Given the description of an element on the screen output the (x, y) to click on. 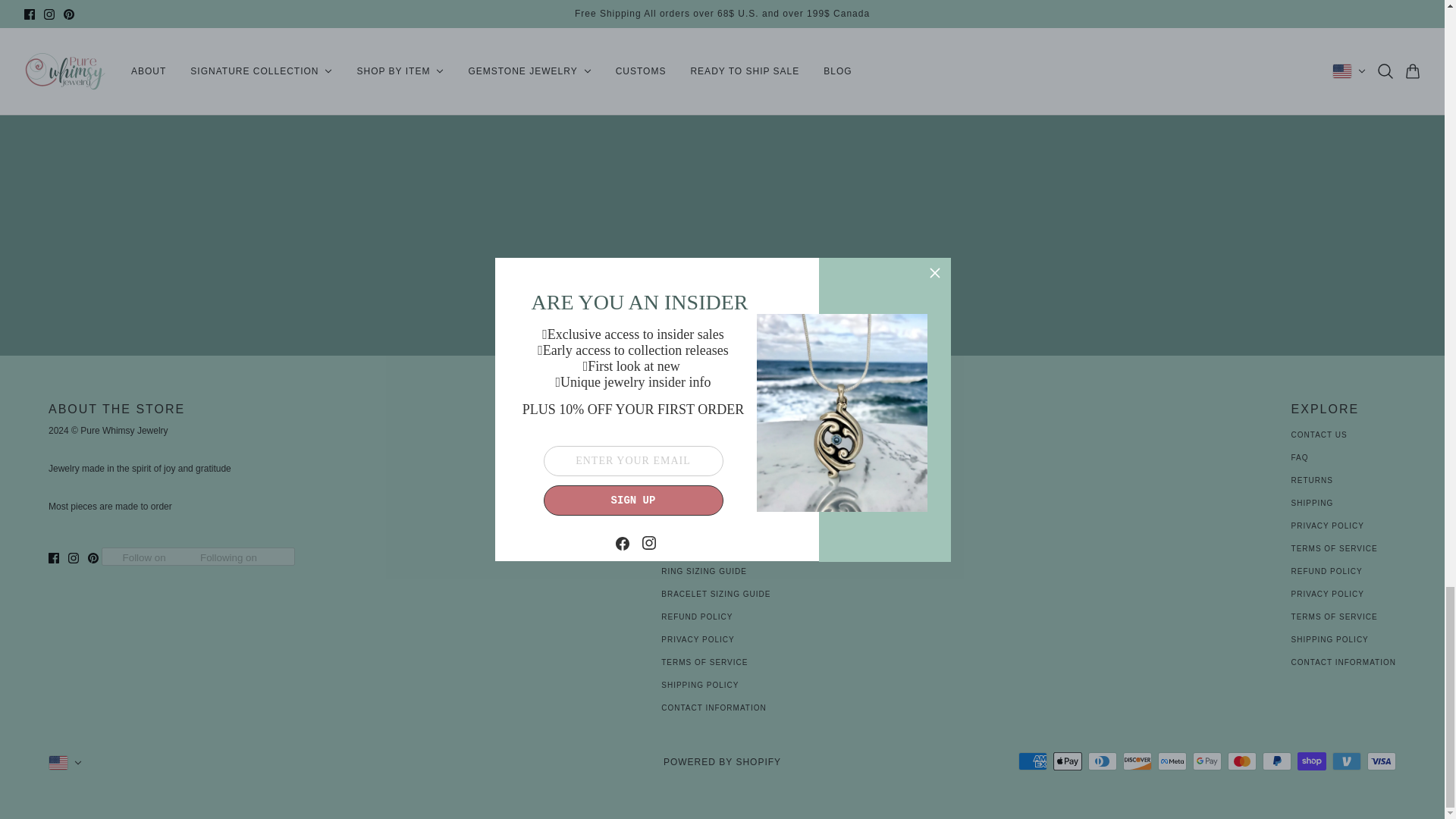
Bracelet Sizing Guide (715, 593)
Faq (1299, 457)
Signature Collection (715, 525)
Shipping  (1312, 502)
All Earrings (693, 434)
Terms of service (704, 662)
All Pendant Necklaces (718, 457)
ring Sizing Guide (703, 571)
Contact Us  (1319, 434)
Contact information (713, 707)
All Rings and Bracelets (722, 479)
Privacy policy (697, 639)
Customs (682, 548)
All Gemstone Jewelry (717, 502)
Refund policy (696, 616)
